Given the description of an element on the screen output the (x, y) to click on. 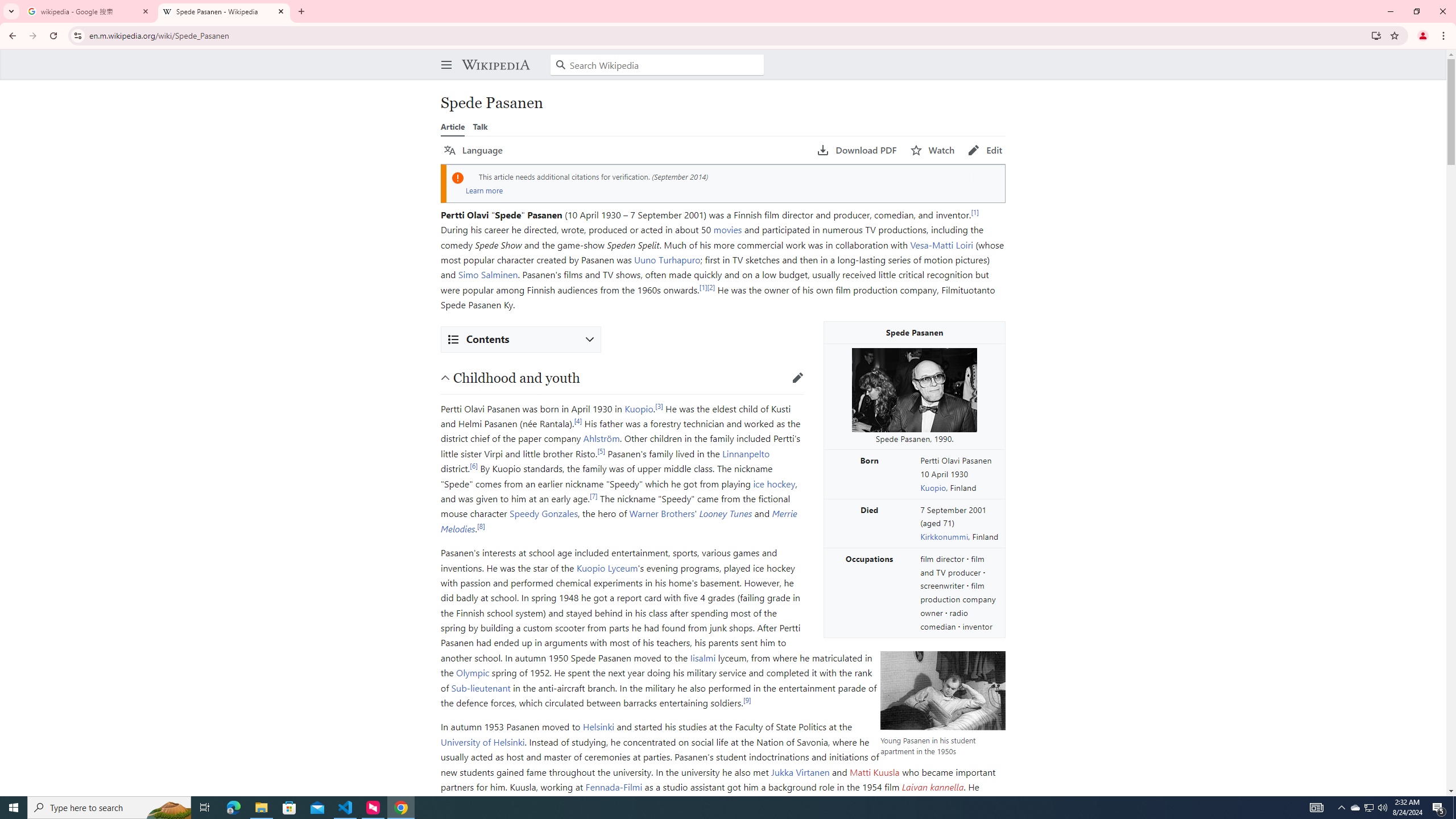
AutomationID: main-menu-input (443, 55)
Kuopio Lyceum (606, 567)
Iisalmi (703, 657)
[9] (598, 799)
AutomationID: minerva-download (857, 150)
[7] (593, 495)
Linnanpelto (746, 453)
[3] (658, 405)
Merrie Melodies (618, 520)
AutomationID: page-actions-watch (932, 150)
